Given the description of an element on the screen output the (x, y) to click on. 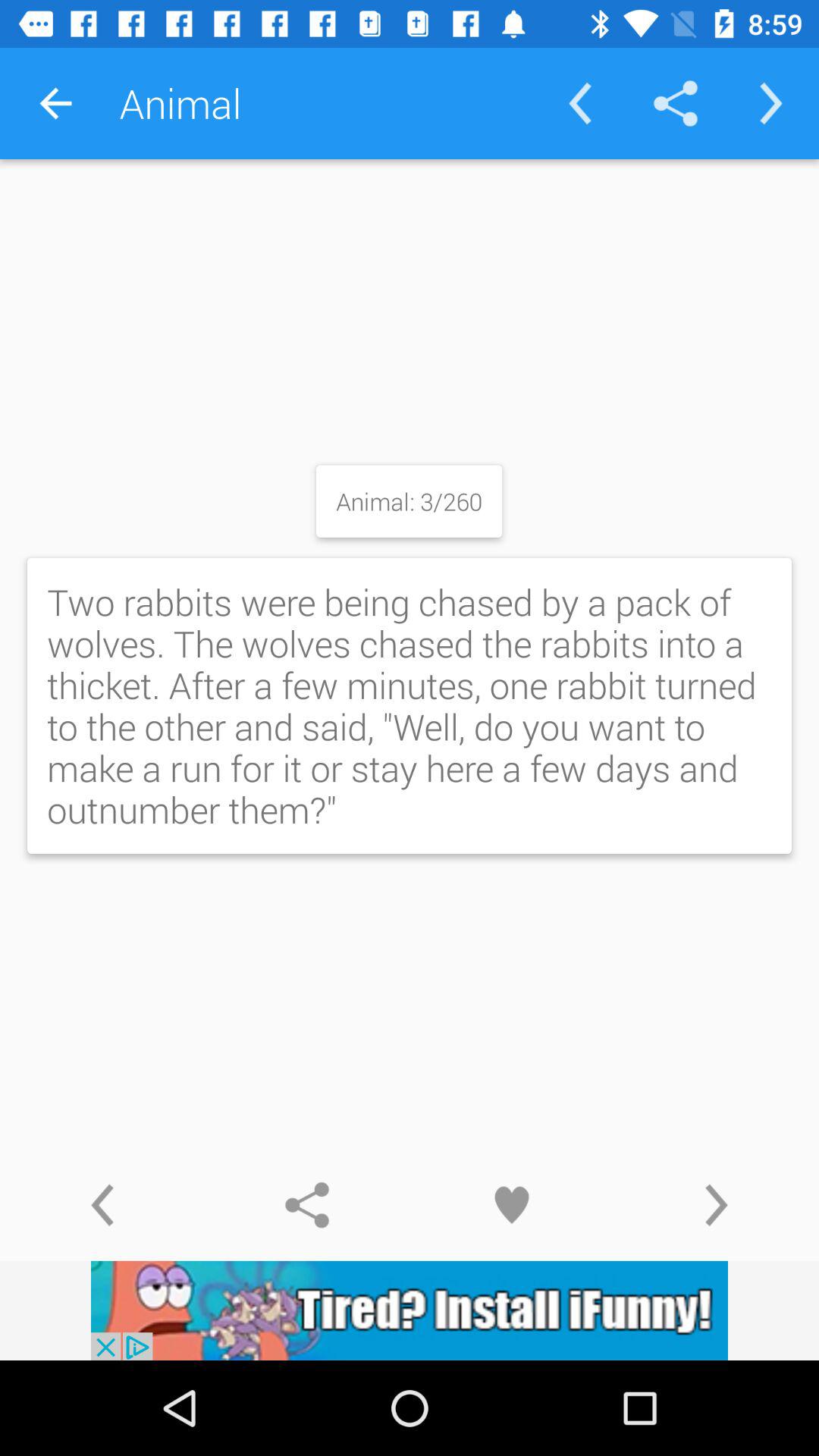
share (306, 1205)
